Given the description of an element on the screen output the (x, y) to click on. 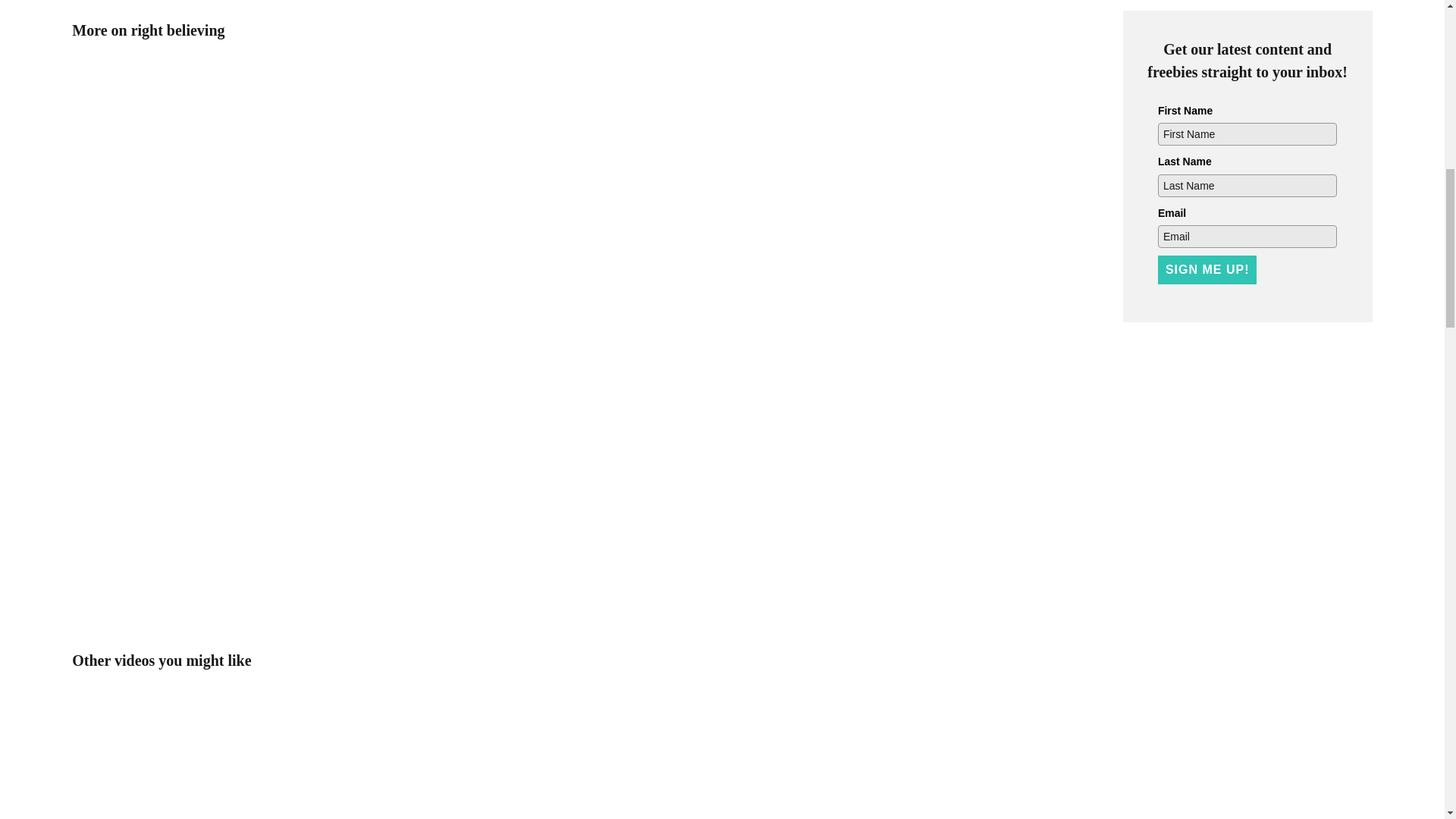
SIGN ME UP! (1207, 269)
